Given the description of an element on the screen output the (x, y) to click on. 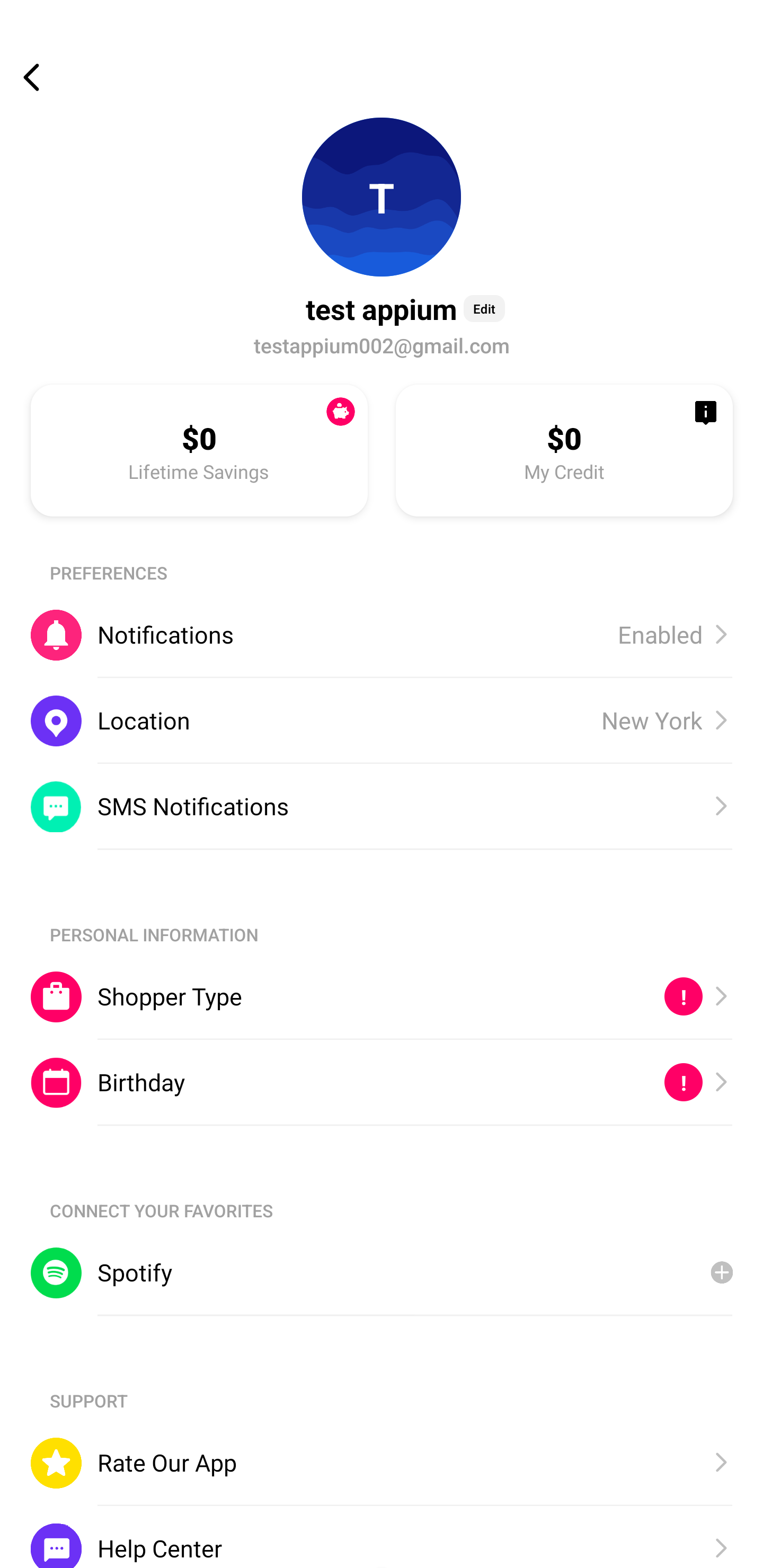
T (381, 196)
Edit (484, 307)
$0, Lifetime Savings $0 Lifetime Savings (198, 449)
$0, My Credit $0 My Credit (563, 449)
Location, New York Location New York (381, 720)
SMS Notifications,    SMS Notifications    (381, 806)
Shopper Type,   , ! Shopper Type    ! (381, 996)
Birthday,   , ! Birthday    ! (381, 1082)
Spotify,    Spotify    (381, 1272)
Rate Our App,    Rate Our App    (381, 1462)
Help Center,    Help Center    (381, 1536)
